Given the description of an element on the screen output the (x, y) to click on. 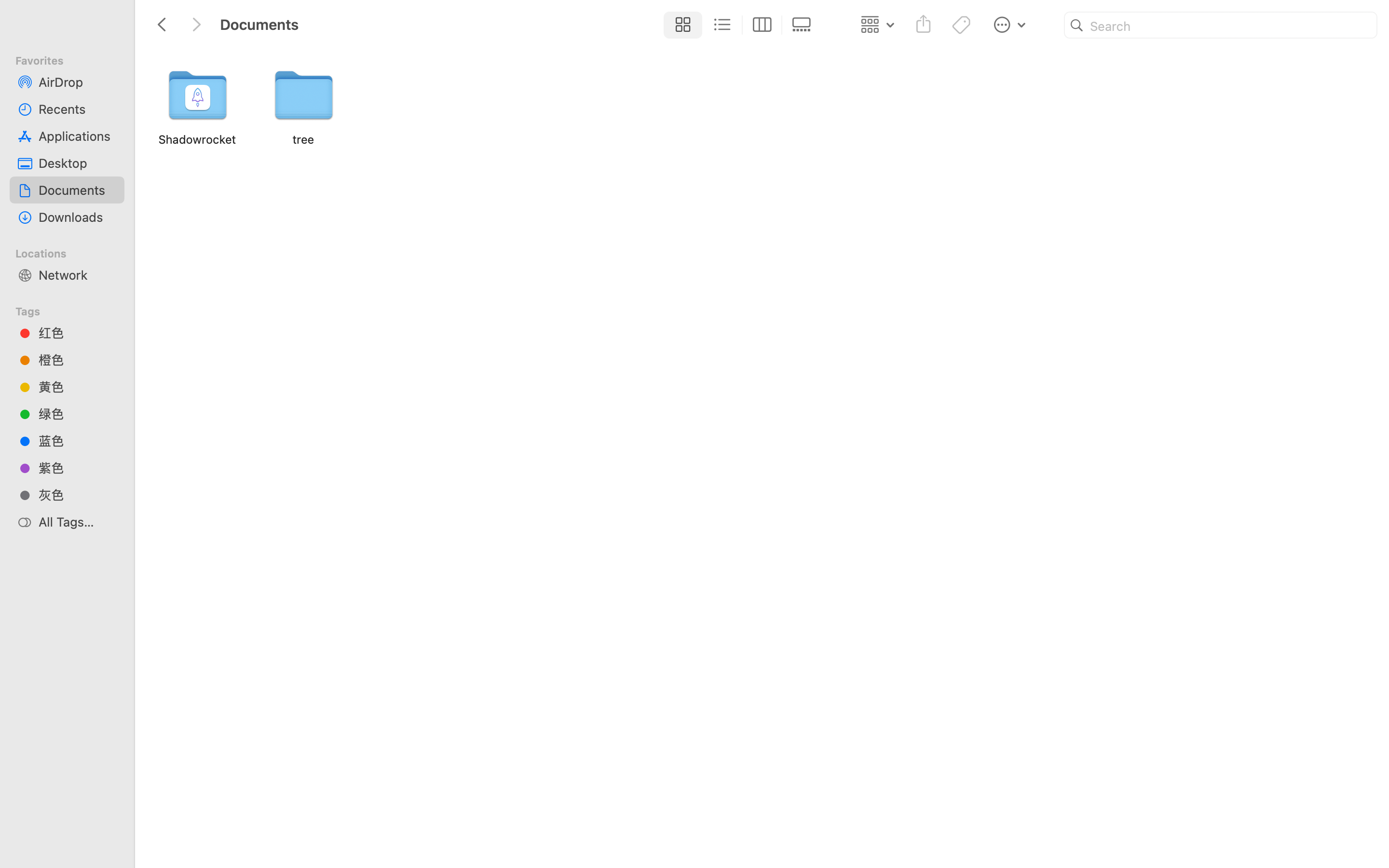
黄色 Element type: AXStaticText (77, 386)
Tags… Element type: AXStaticText (20, 860)
0 Element type: AXRadioButton (804, 24)
Applications Element type: AXStaticText (77, 135)
Locations Element type: AXStaticText (72, 252)
